Given the description of an element on the screen output the (x, y) to click on. 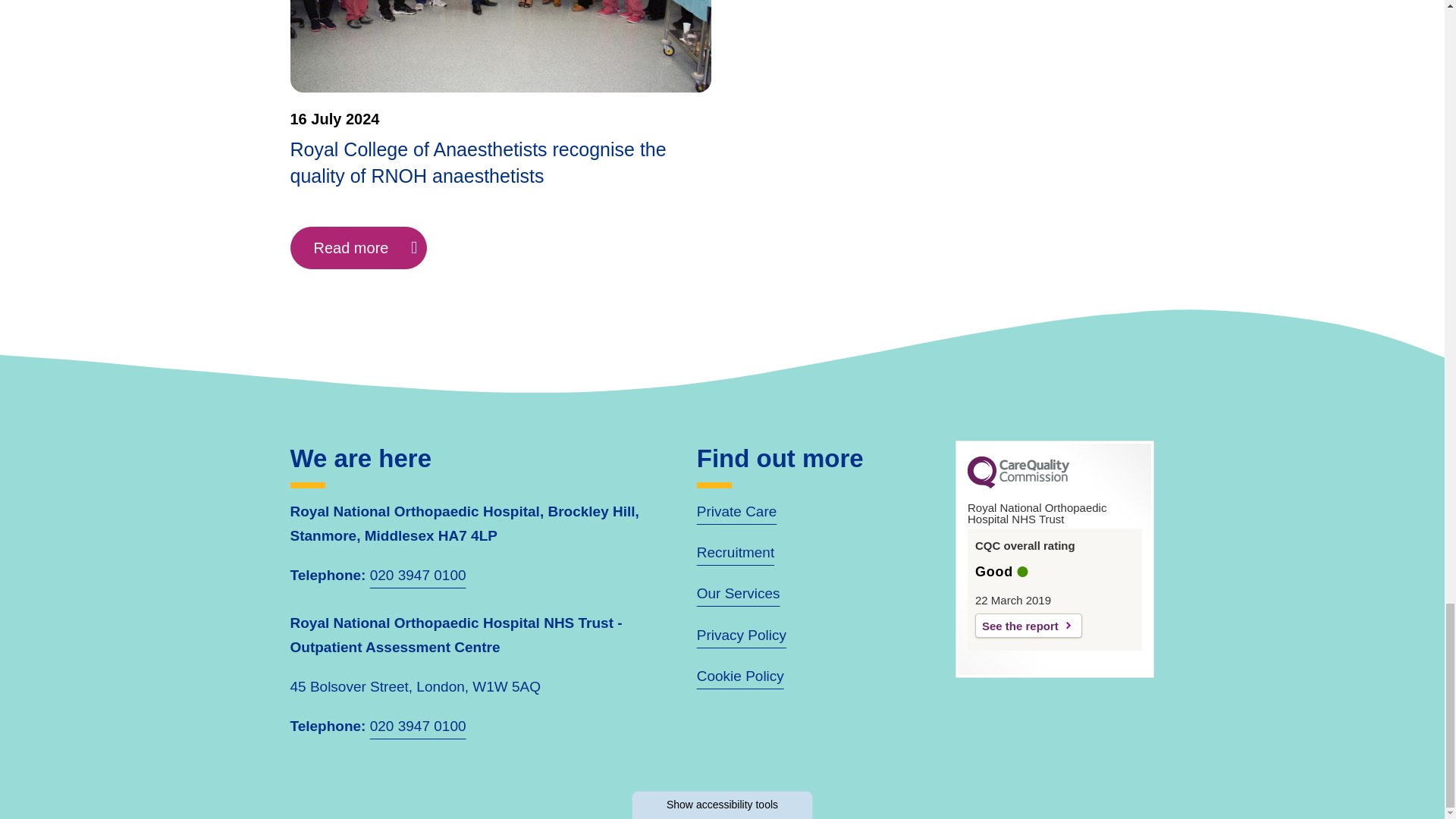
CQC Logo (1018, 484)
